Given the description of an element on the screen output the (x, y) to click on. 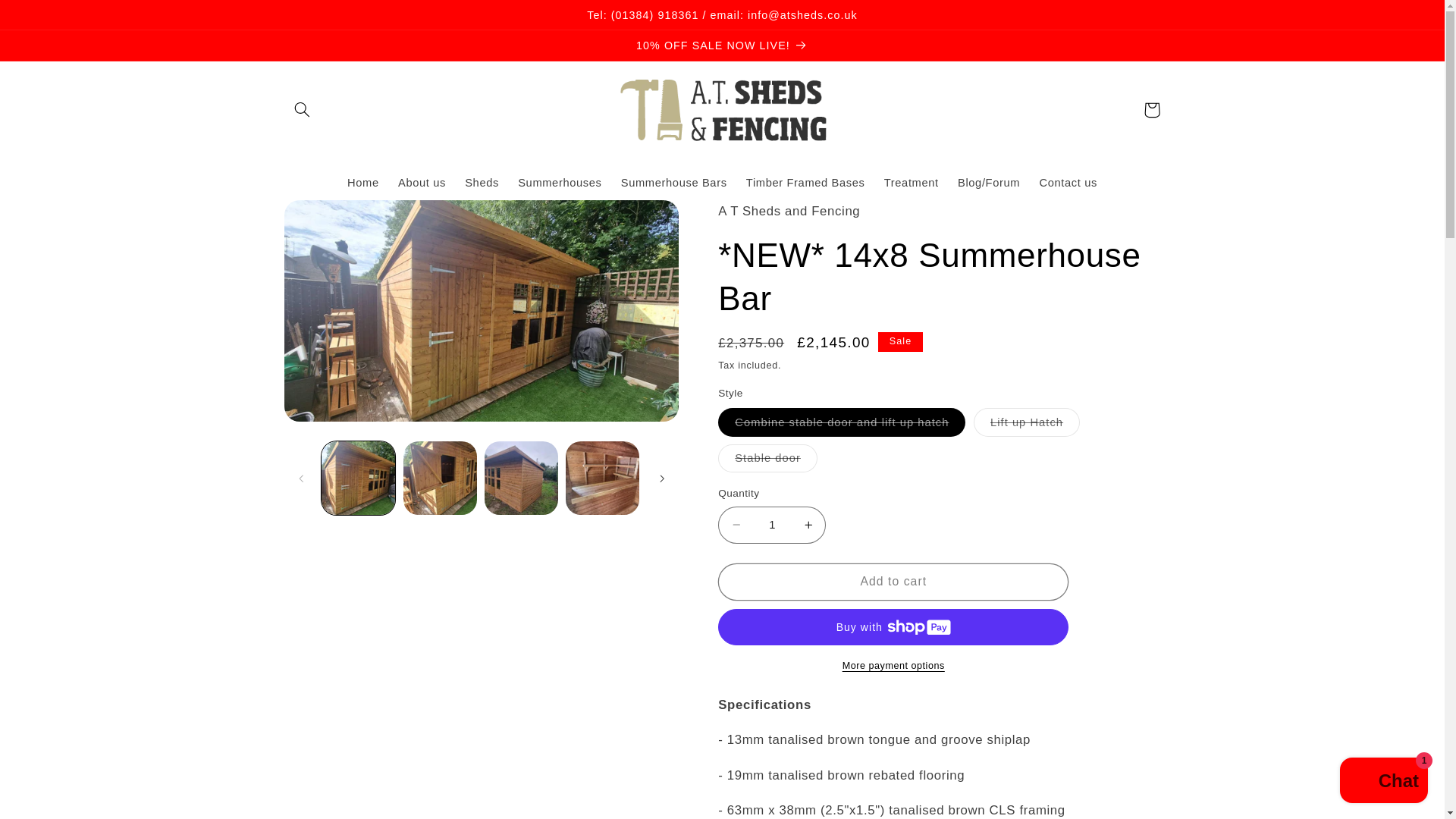
Sheds (481, 183)
Home (362, 183)
About us (421, 183)
Timber Framed Bases (805, 183)
Cart (1151, 109)
Contact us (1067, 183)
Shopify online store chat (1383, 781)
Skip to product information (331, 217)
Skip to content (48, 18)
Treatment (911, 183)
Summerhouses (559, 183)
1 (771, 524)
